Given the description of an element on the screen output the (x, y) to click on. 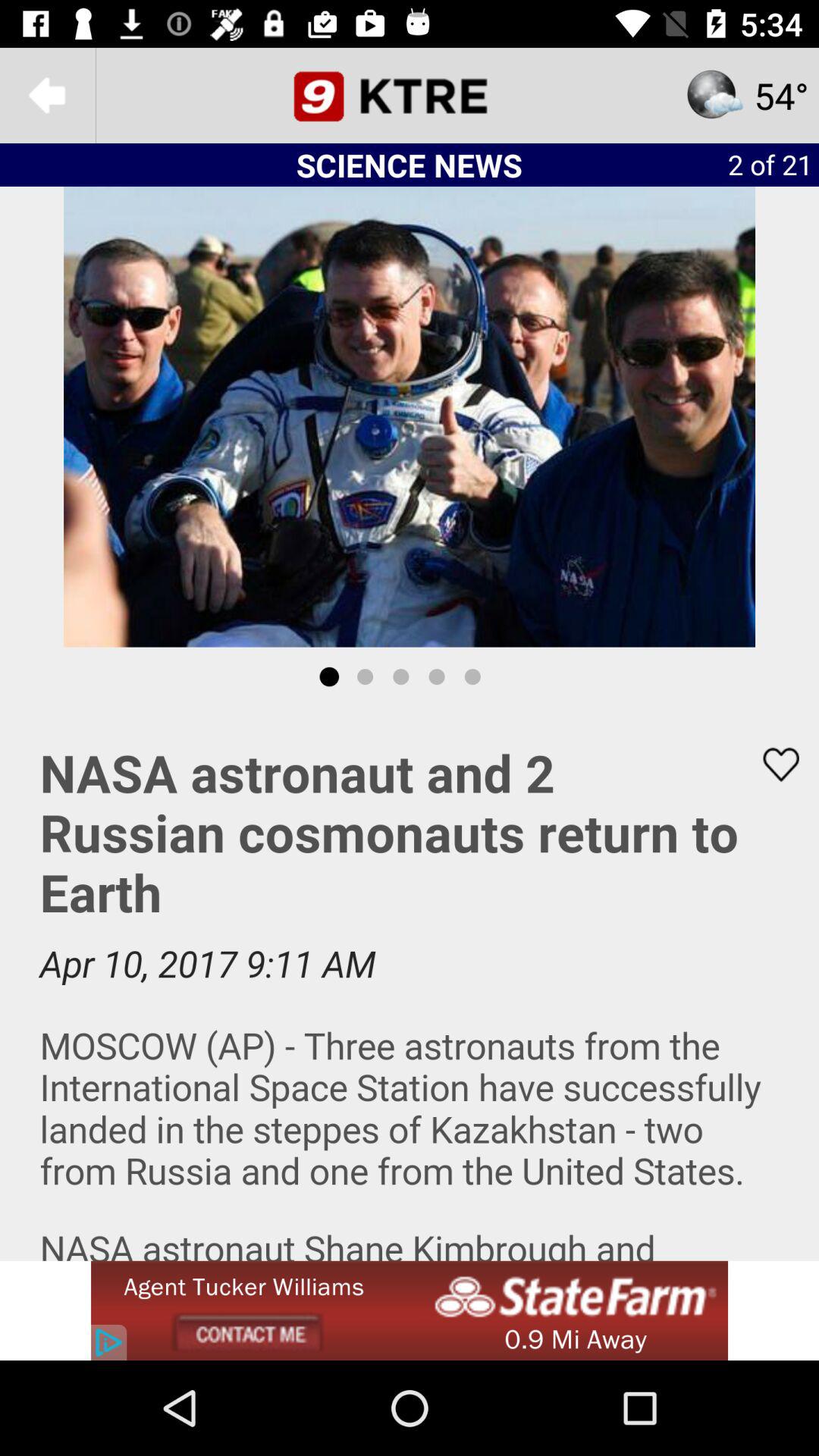
add to favourites (771, 764)
